Given the description of an element on the screen output the (x, y) to click on. 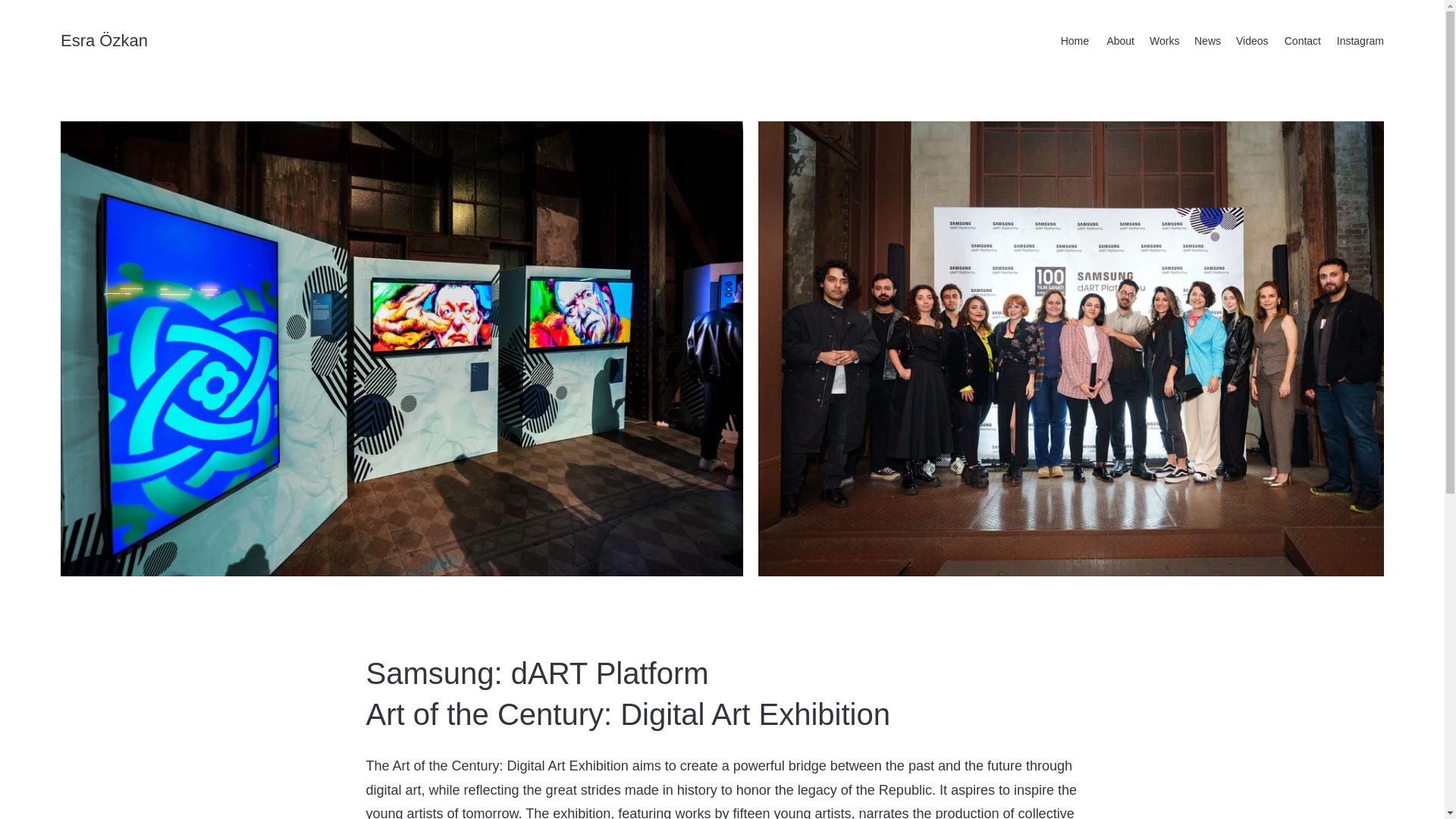
About (1118, 40)
News (1207, 40)
Instagram (1359, 40)
Home (1074, 40)
Videos (1251, 40)
Works (1163, 40)
Contact (1301, 40)
